Given the description of an element on the screen output the (x, y) to click on. 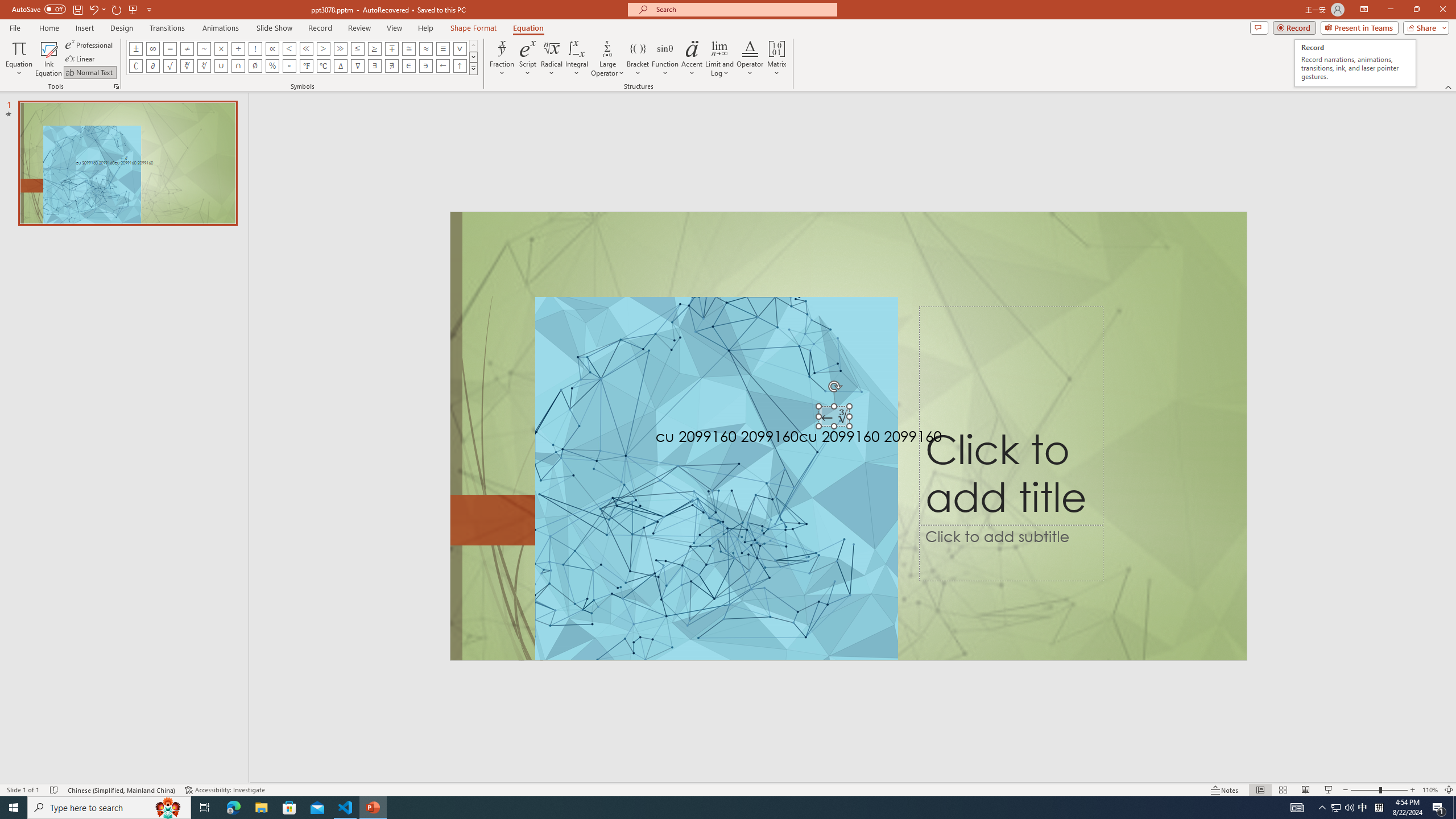
Equation Symbol Cube Root (187, 65)
Equation Symbol Empty Set (255, 65)
Equation Symbol Much Greater Than (340, 48)
Equation Symbol Multiplication Sign (221, 48)
Equation Symbol Infinity (152, 48)
